Given the description of an element on the screen output the (x, y) to click on. 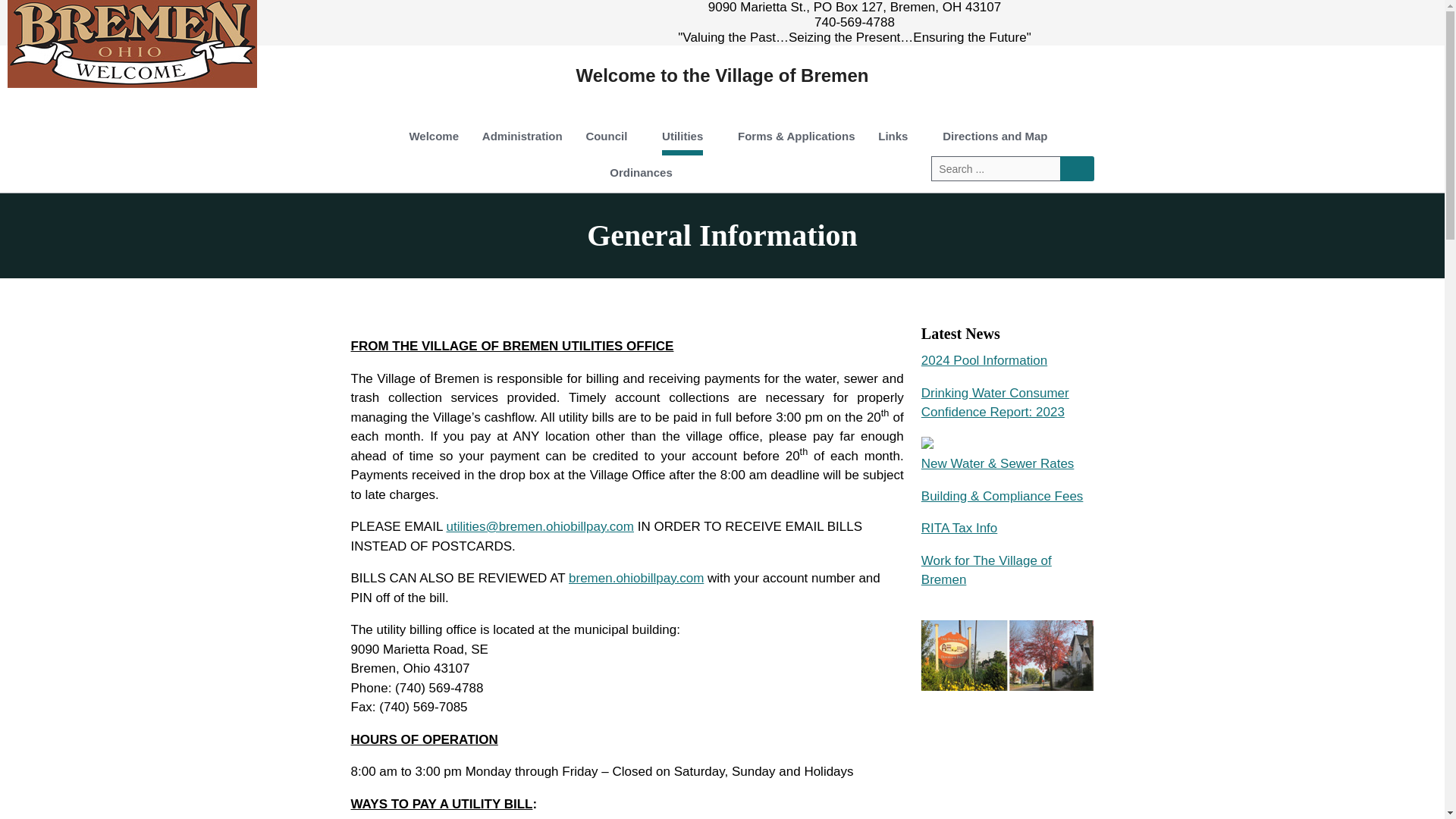
Council (611, 137)
bremen.ohiobillpay.com (636, 577)
Welcome (433, 137)
Directions and Map (994, 137)
Links (898, 137)
Ordinances (641, 174)
Administration (521, 137)
Welcome to the Village of Bremen (722, 75)
Search for: (995, 168)
Search (1076, 168)
Utilities (687, 137)
Drinking Water Consumer Confidence Report: 2023 (994, 401)
2024 Pool Information (983, 359)
